Given the description of an element on the screen output the (x, y) to click on. 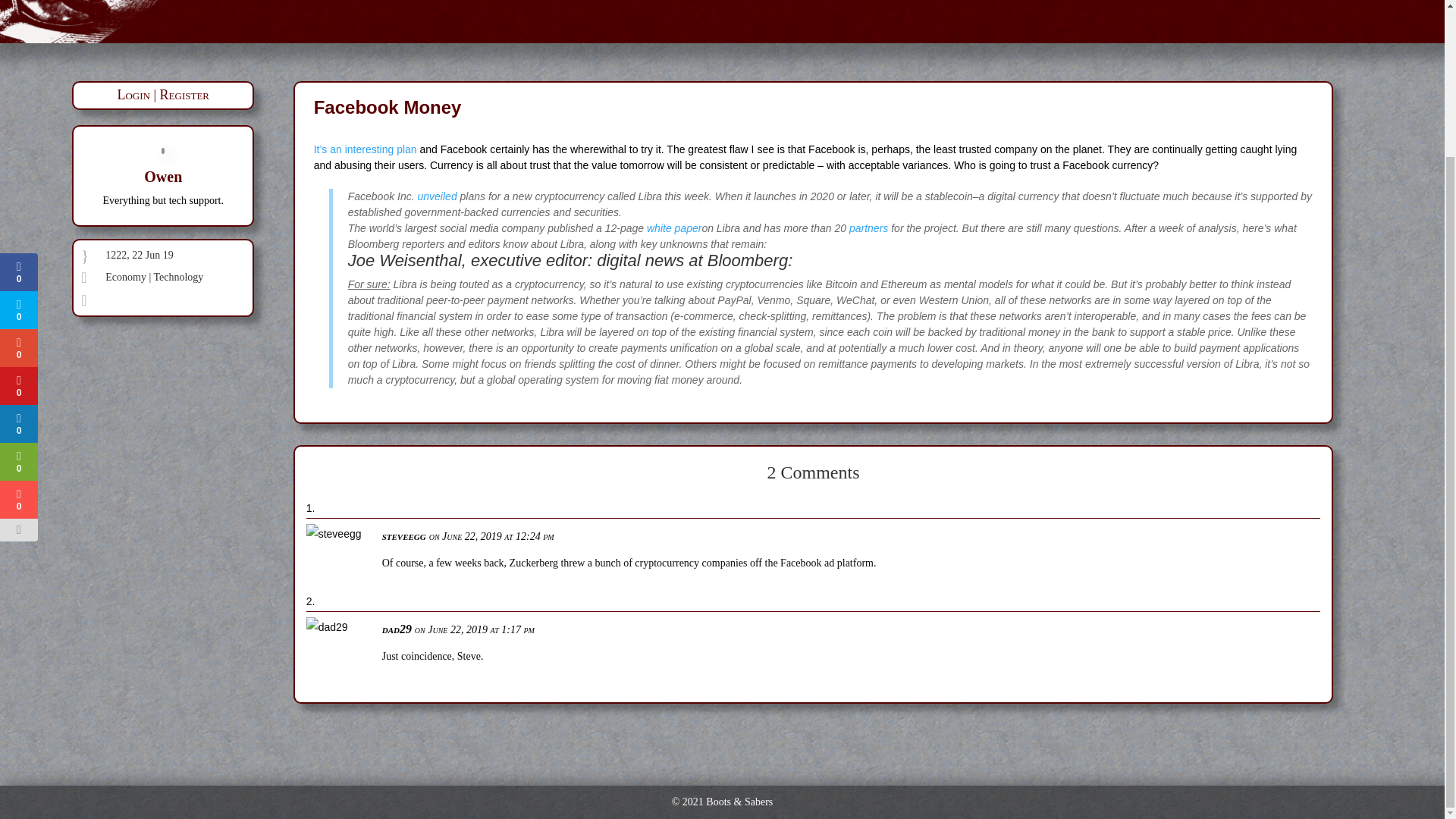
steveegg (403, 535)
Technology (177, 276)
0 (18, 316)
partners (868, 227)
0 (18, 127)
Login (132, 94)
0 (17, 89)
Economy (125, 276)
0 (18, 202)
unveiled (437, 196)
0 (18, 240)
white paper (673, 227)
Register (184, 94)
aggie-boots-96-clear (150, 21)
0 (18, 165)
